Given the description of an element on the screen output the (x, y) to click on. 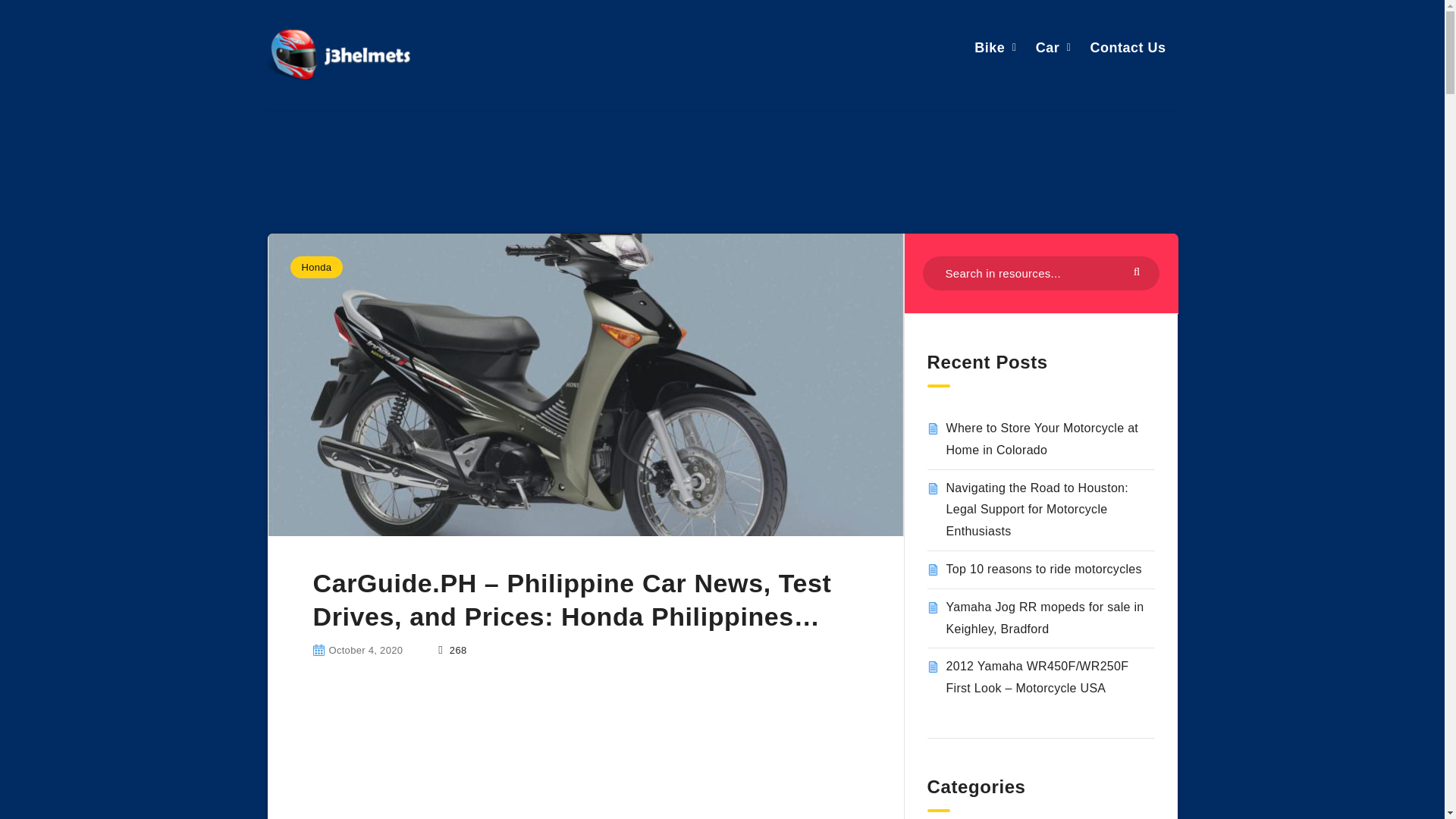
Car (1047, 47)
268 (451, 650)
Bike (989, 47)
Advertisement (584, 757)
Contact Us (1127, 47)
Honda (315, 267)
